Given the description of an element on the screen output the (x, y) to click on. 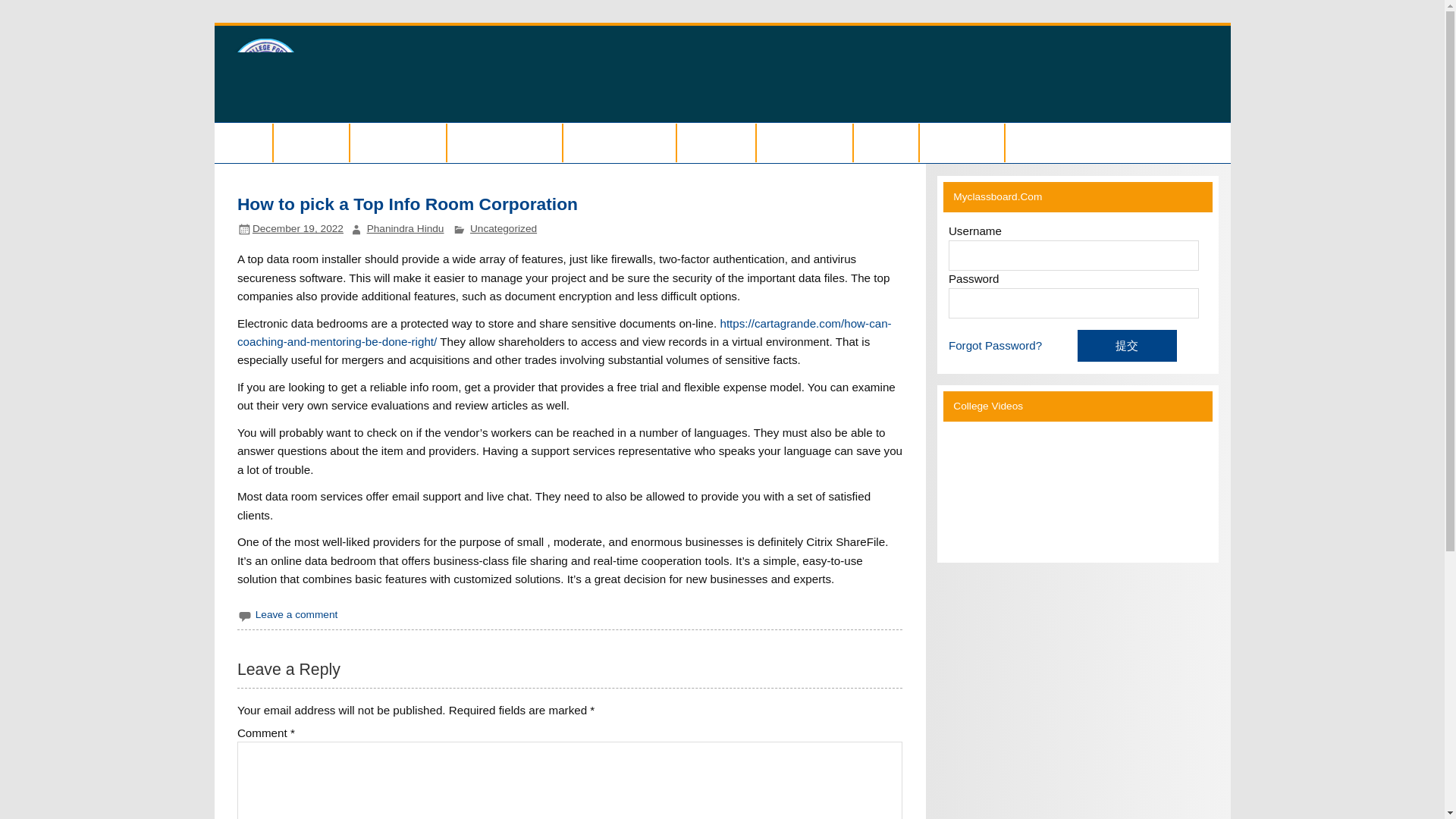
Gallery (885, 142)
Forgot Password? (995, 345)
About Us (311, 142)
12:00 am (297, 228)
Management (397, 142)
YouTube video player (1062, 489)
Leave a comment (296, 614)
Home (243, 142)
Contact Us (962, 142)
Hindu College for Women (783, 51)
